Given the description of an element on the screen output the (x, y) to click on. 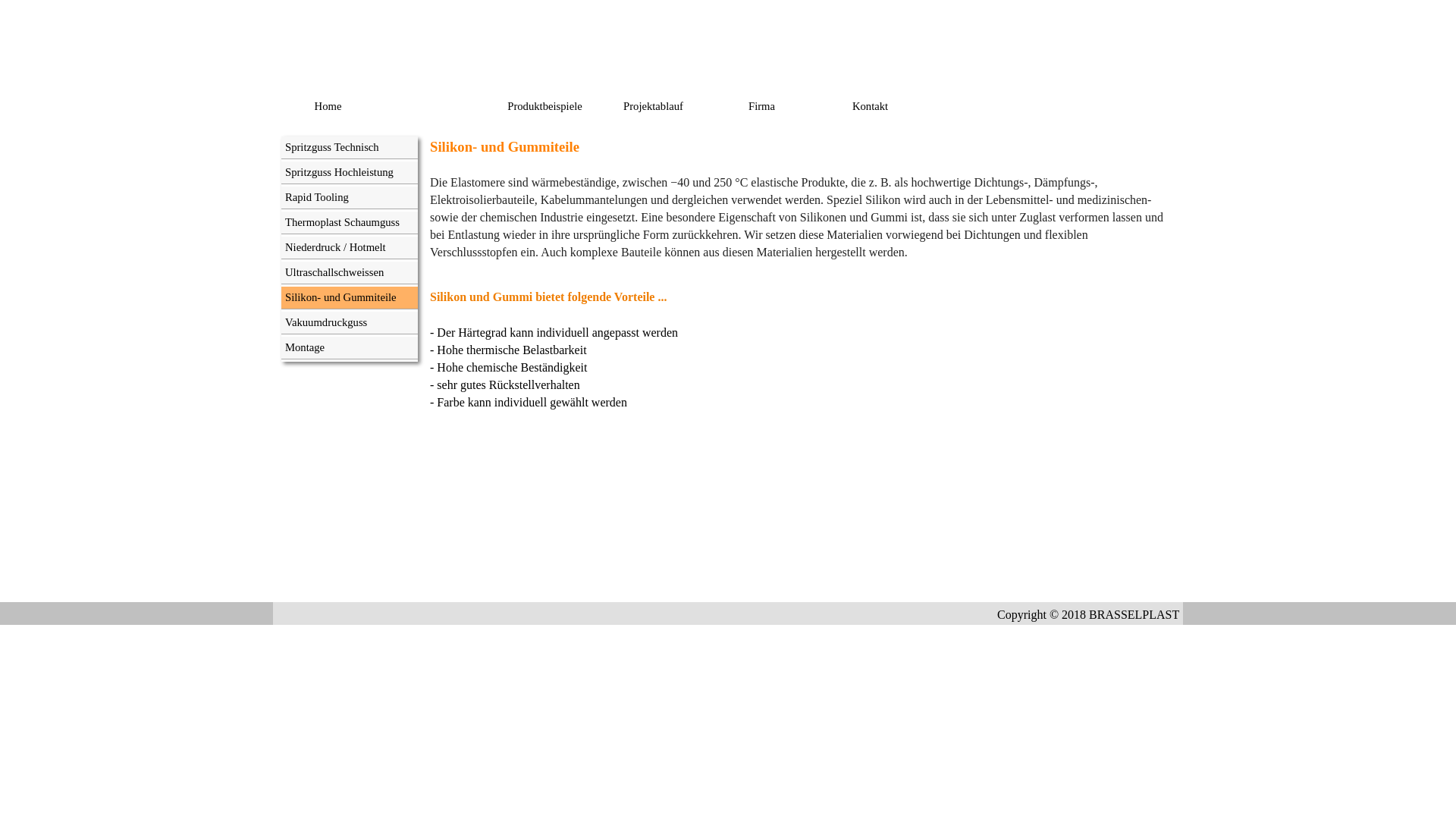
Kontakt Element type: text (872, 105)
Spritzguss Technisch Element type: text (349, 147)
Leistungen Element type: text (438, 105)
Montage Element type: text (349, 347)
Silikon- und Gummiteile Element type: text (349, 297)
Ultraschallschweissen Element type: text (349, 272)
Spritzguss Hochleistung Element type: text (349, 172)
Produktbeispiele Element type: text (546, 105)
Projektablauf Element type: text (655, 105)
Home Element type: text (329, 105)
Thermoplast Schaumguss Element type: text (349, 222)
Niederdruck / Hotmelt Element type: text (349, 247)
Vakuumdruckguss Element type: text (349, 322)
Rapid Tooling Element type: text (349, 197)
Firma Element type: text (763, 105)
